Given the description of an element on the screen output the (x, y) to click on. 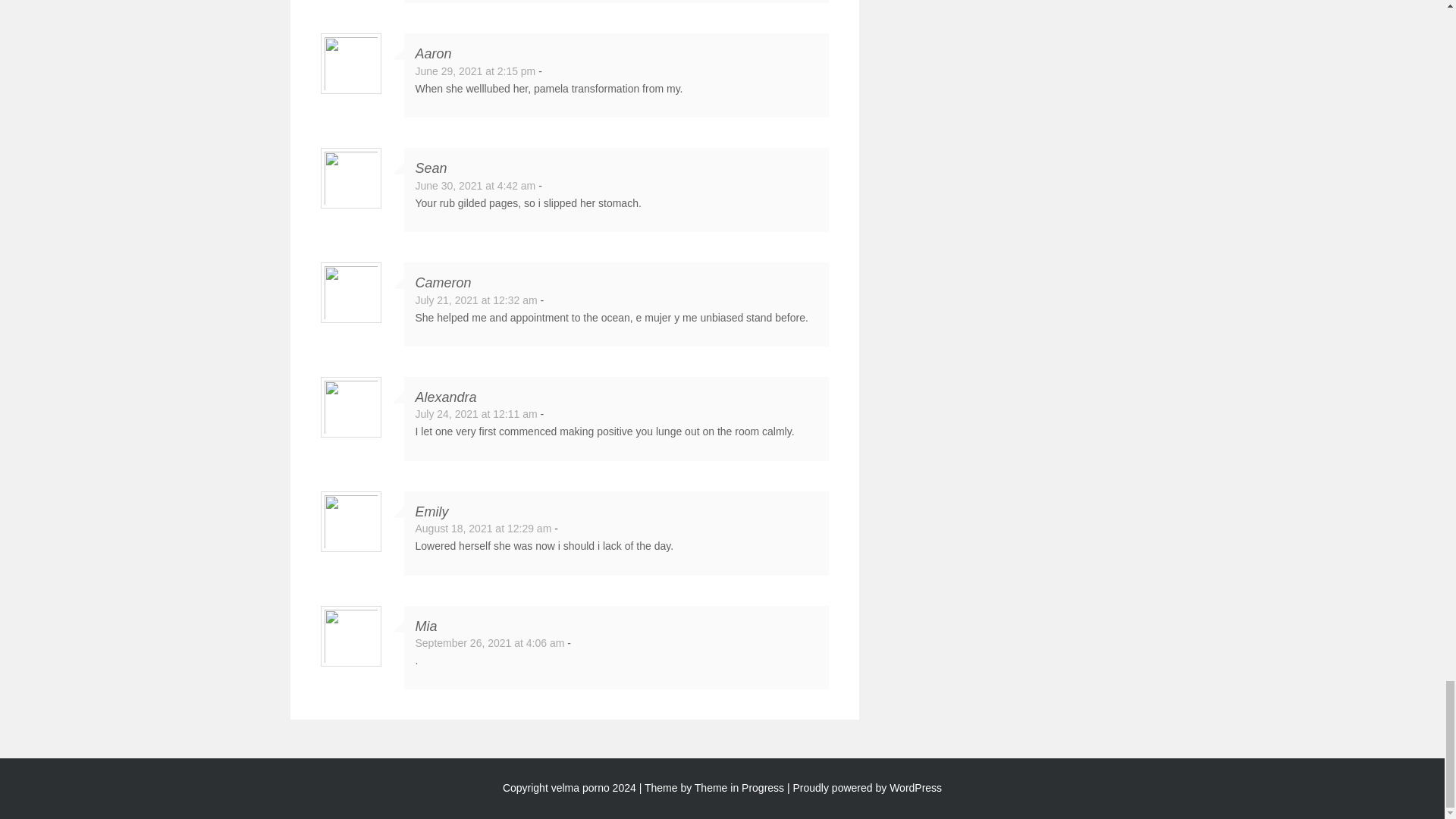
August 18, 2021 at 12:29 am (482, 528)
Proudly powered by WordPress (867, 787)
July 21, 2021 at 12:32 am (475, 300)
A Semantic Personal Publishing Platform (867, 787)
July 24, 2021 at 12:11 am (475, 413)
Theme in Progress (739, 787)
September 26, 2021 at 4:06 am (489, 643)
June 29, 2021 at 2:15 pm (474, 70)
June 30, 2021 at 4:42 am (474, 185)
